Given the description of an element on the screen output the (x, y) to click on. 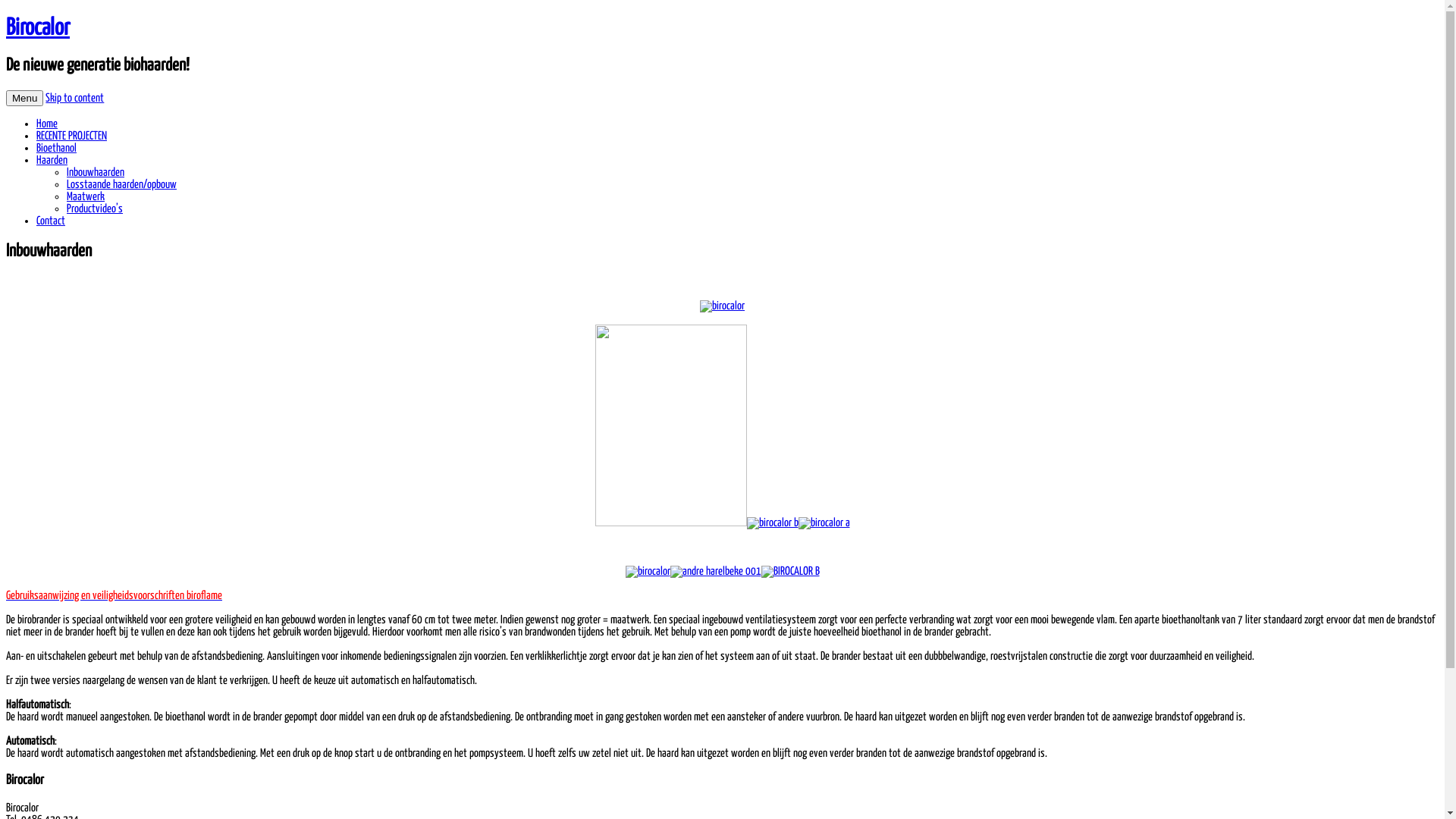
Home Element type: text (46, 123)
Skip to content Element type: text (74, 97)
Haarden Element type: text (51, 160)
Menu Element type: text (24, 98)
Gebruiksaanwijzing en veiligheidsvoorschriften biroflame Element type: text (114, 595)
RECENTE PROJECTEN Element type: text (71, 135)
Contact Element type: text (50, 220)
Losstaande haarden/opbouw Element type: text (121, 184)
Inbouwhaarden Element type: text (95, 172)
Birocalor Element type: text (37, 27)
Maatwerk Element type: text (85, 196)
Bioethanol Element type: text (56, 147)
